Given the description of an element on the screen output the (x, y) to click on. 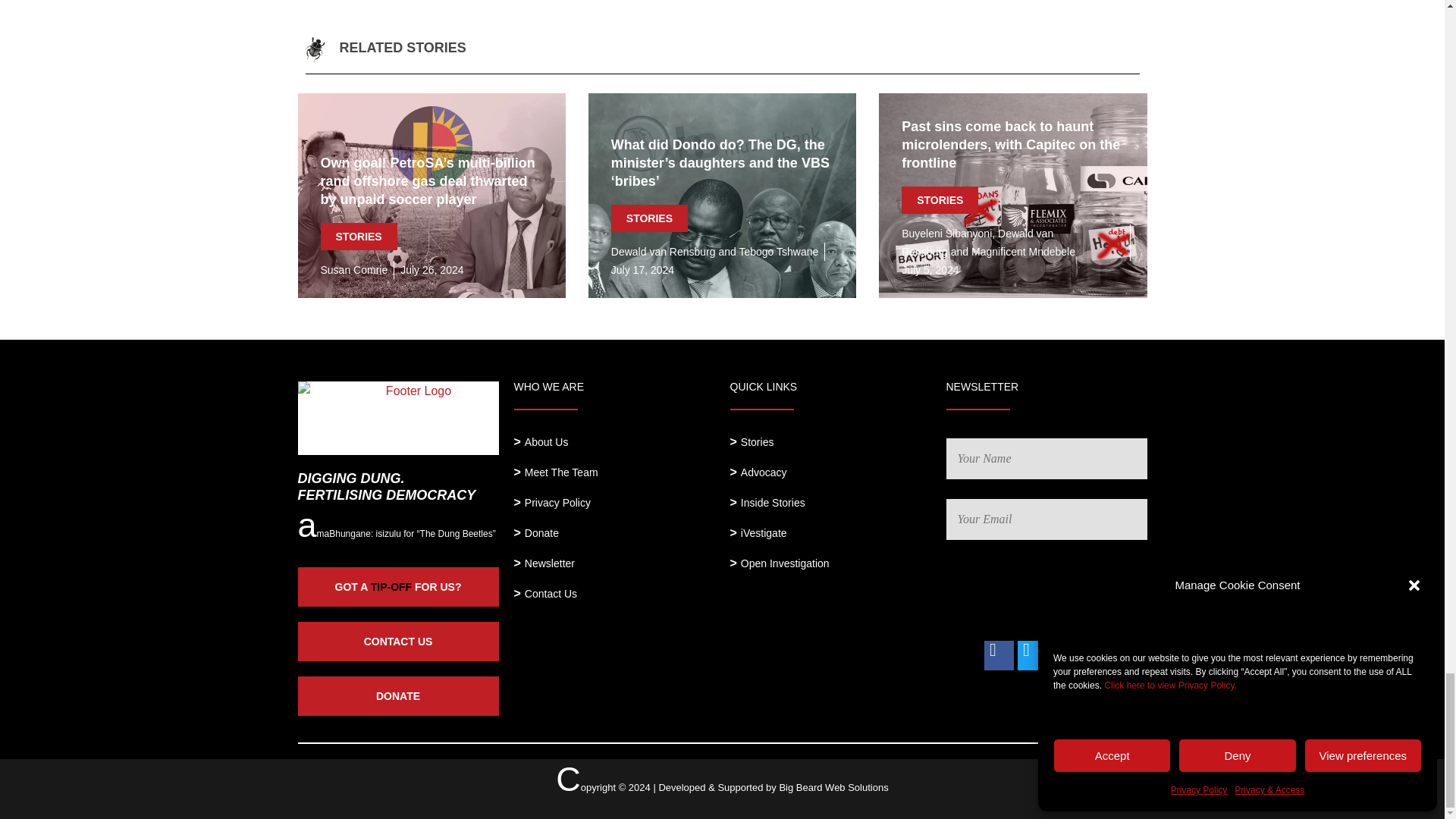
Subscribe (1101, 589)
